Given the description of an element on the screen output the (x, y) to click on. 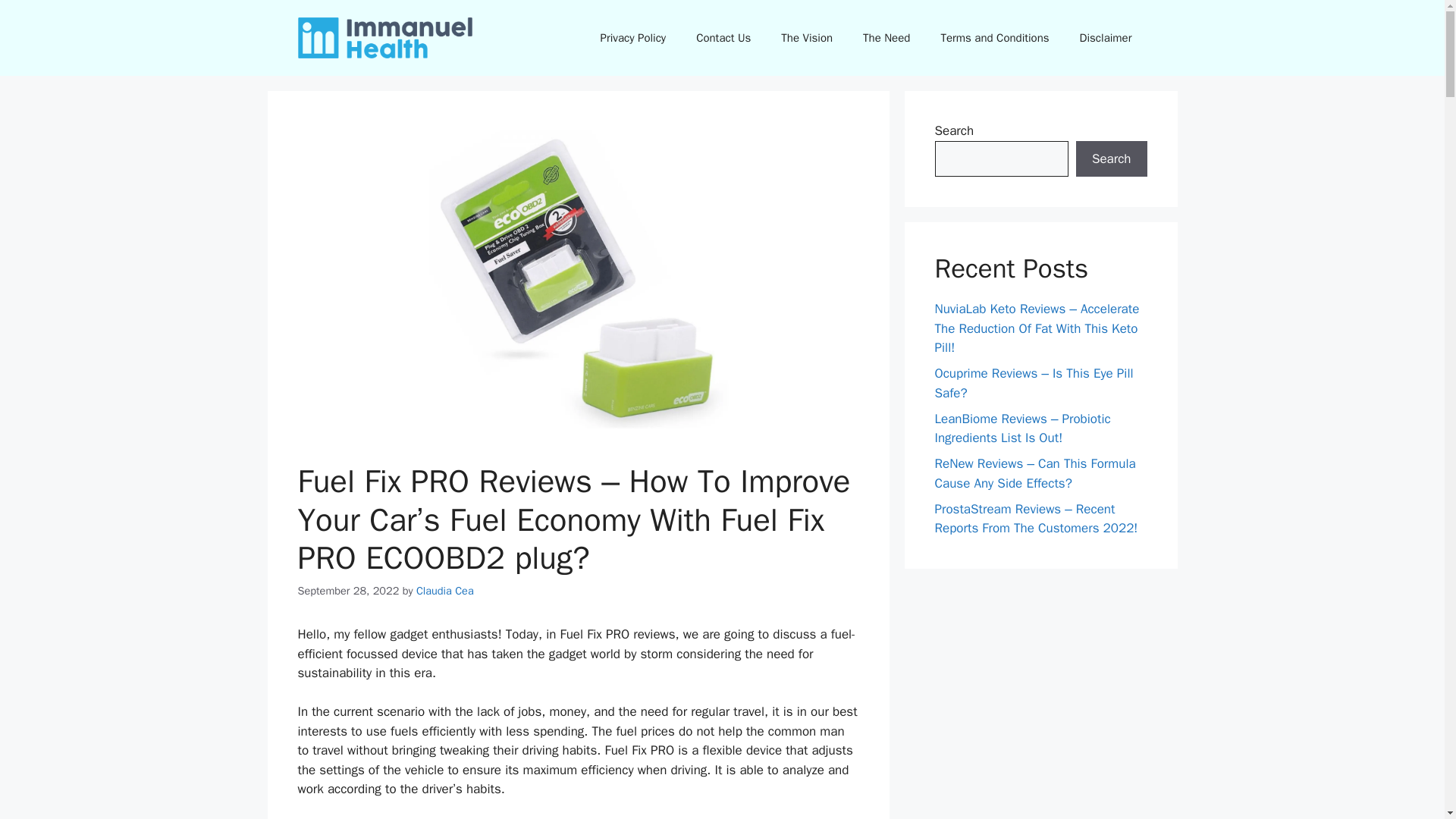
Claudia Cea (445, 590)
View all posts by Claudia Cea (445, 590)
Immanuel Health Center (384, 37)
Privacy Policy (633, 37)
Immanuel Health Center (384, 36)
Disclaimer (1105, 37)
Contact Us (723, 37)
Search (1111, 158)
Terms and Conditions (994, 37)
The Need (885, 37)
